Given the description of an element on the screen output the (x, y) to click on. 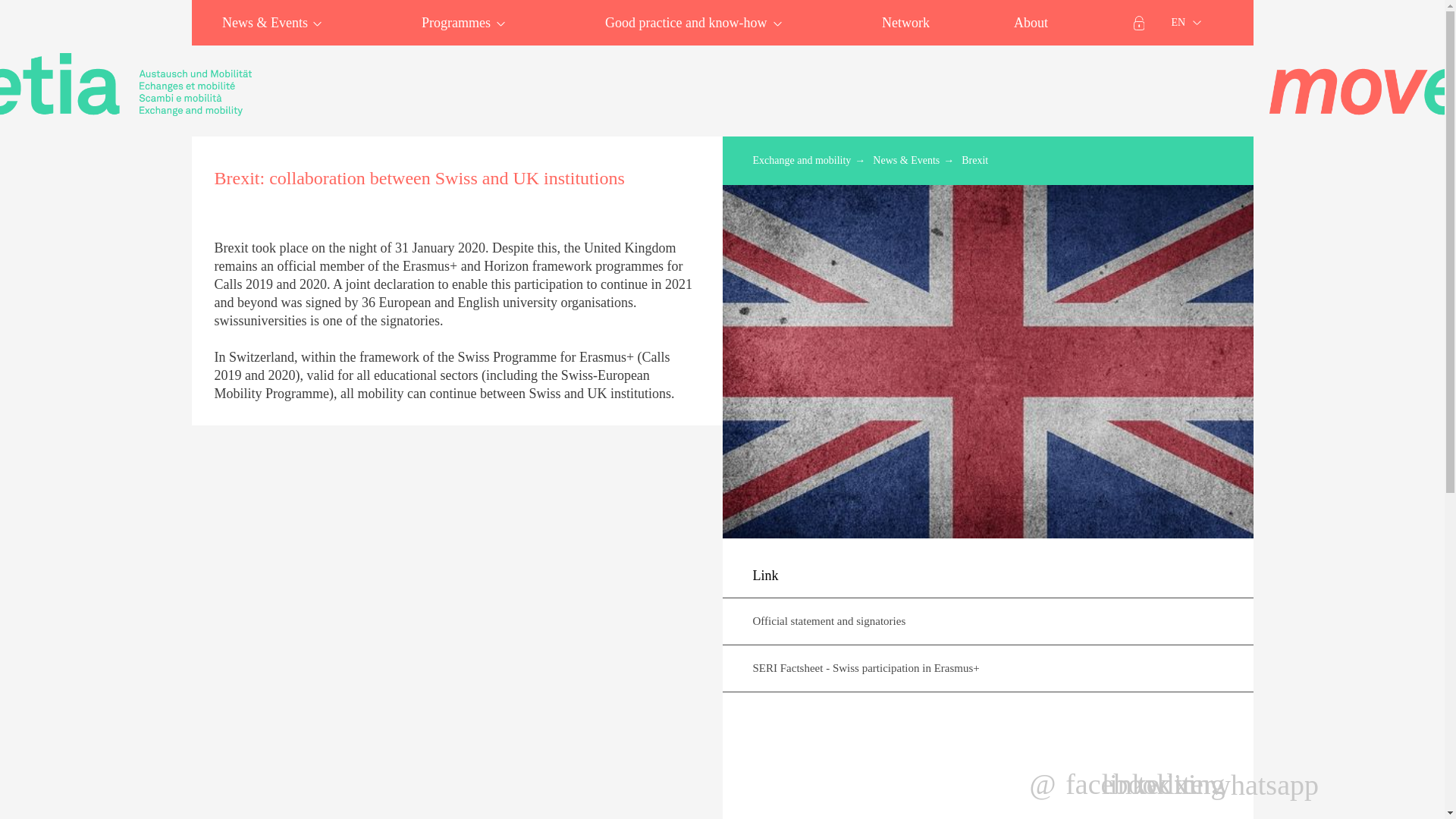
Exchange and mobility (125, 84)
Exchange and mobility (1362, 84)
Programmes (459, 22)
